Given the description of an element on the screen output the (x, y) to click on. 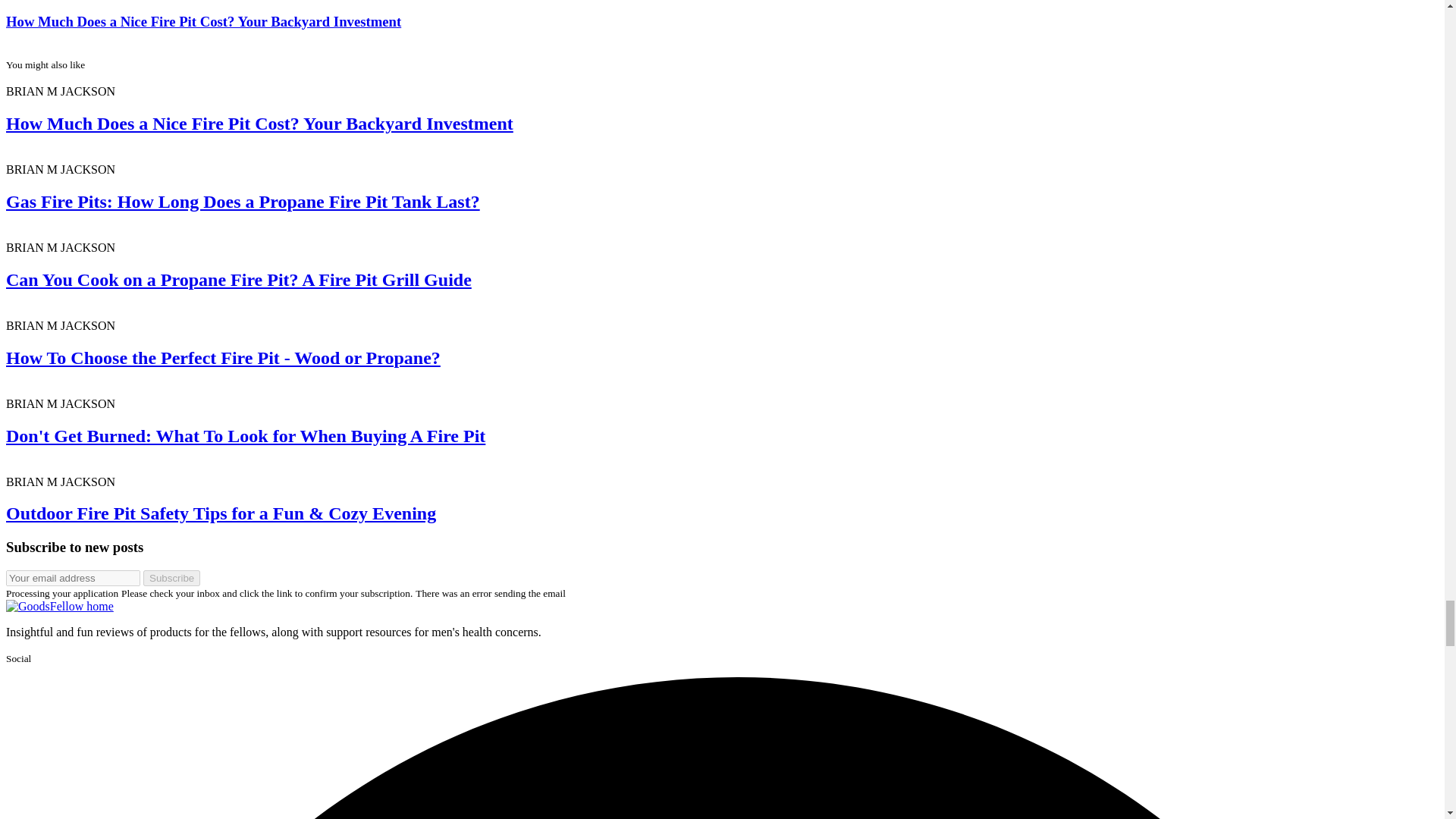
Don't Get Burned: What To Look for When Buying A Fire Pit (244, 435)
Can You Cook on a Propane Fire Pit? A Fire Pit Grill Guide (238, 279)
How To Choose the Perfect Fire Pit - Wood or Propane? (223, 357)
How Much Does a Nice Fire Pit Cost? Your Backyard Investment (259, 123)
Gas Fire Pits: How Long Does a Propane Fire Pit Tank Last? (242, 201)
